Given the description of an element on the screen output the (x, y) to click on. 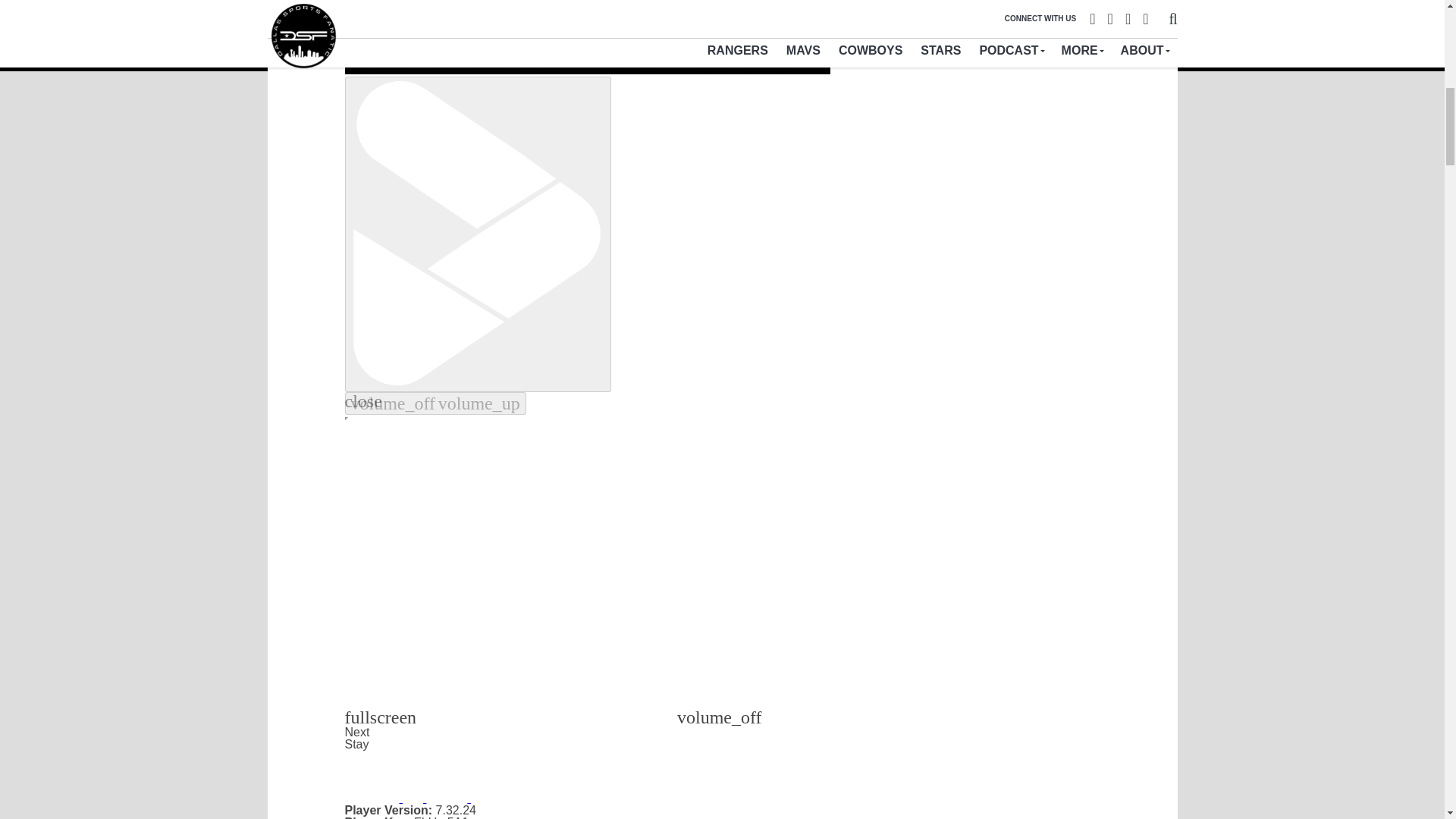
Subscribe (932, 2)
